Given the description of an element on the screen output the (x, y) to click on. 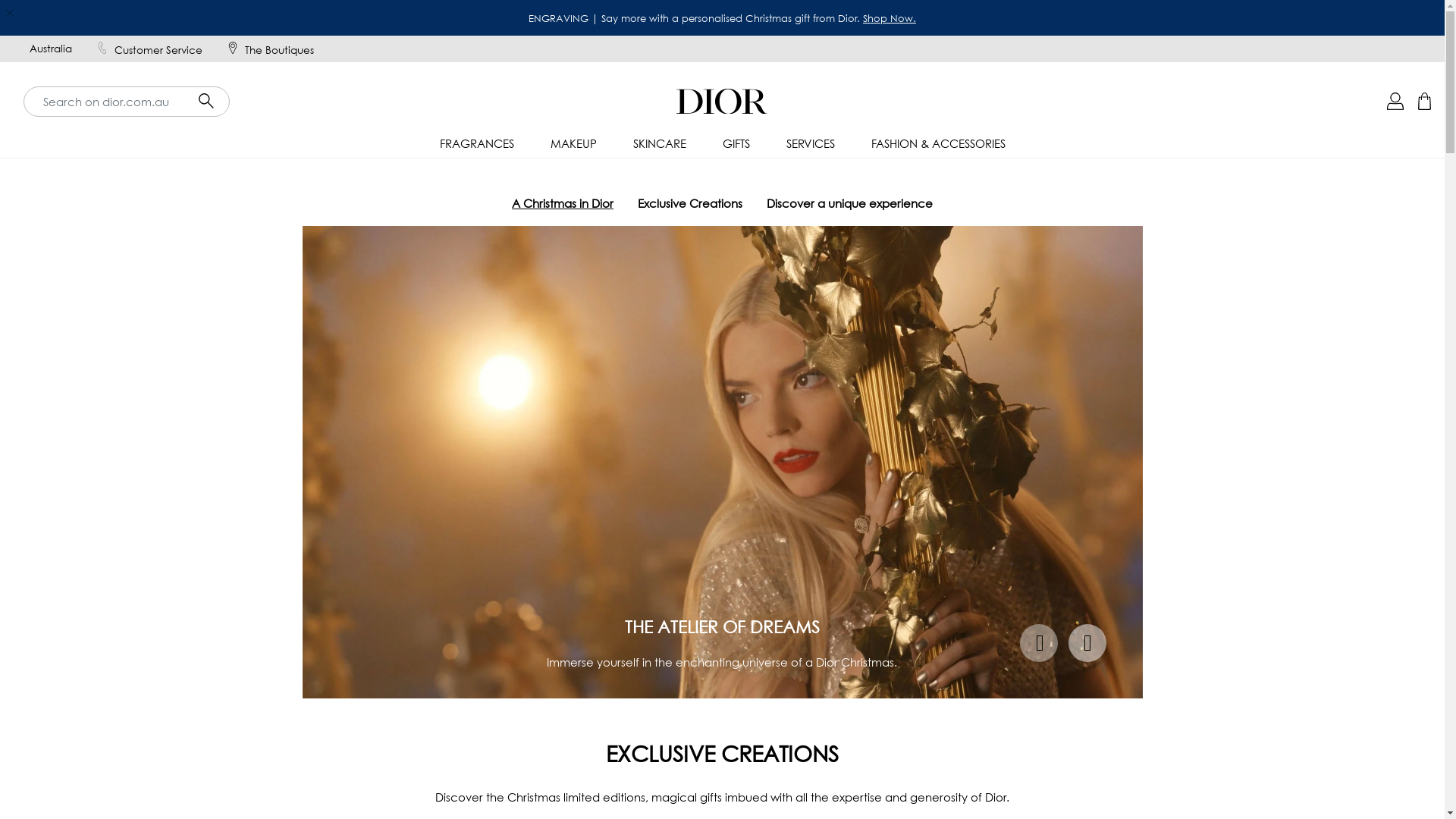
GIFTS Element type: text (735, 144)
MAKEUP Element type: text (573, 144)
A Christmas in Dior Element type: text (562, 203)
The Boutiques Element type: text (269, 47)
FRAGRANCES Element type: text (476, 144)
FASHION & ACCESSORIES Element type: text (937, 144)
SERVICES Element type: text (809, 144)
Begin. Element type: text (898, 18)
Discover a unique experience Element type: text (849, 203)
Exclusive Creations Element type: text (689, 203)
SKINCARE Element type: text (658, 144)
Customer Service Element type: text (149, 47)
